Given the description of an element on the screen output the (x, y) to click on. 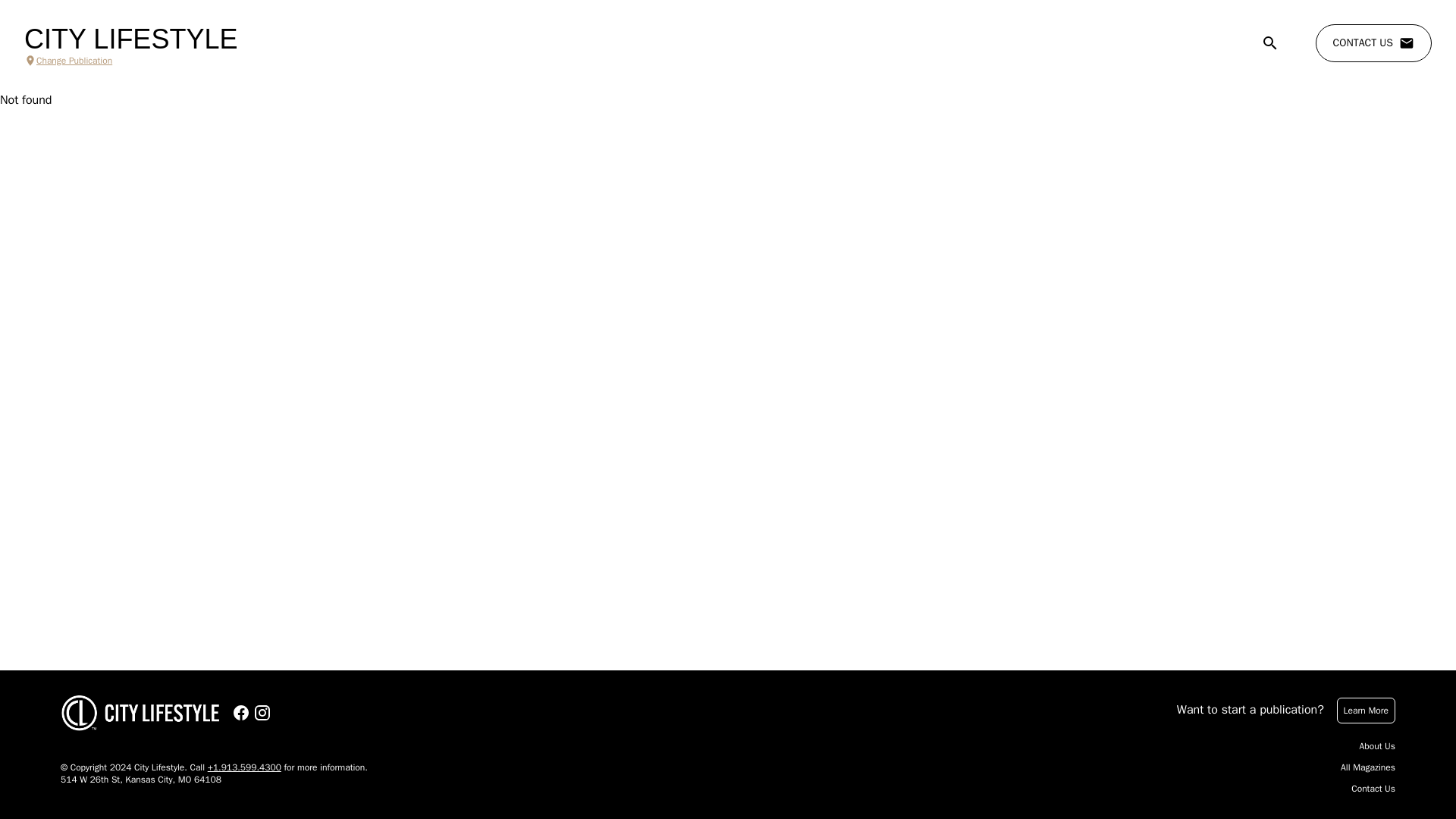
CONTACT US (1373, 43)
All Magazines (1367, 767)
Learn More (1365, 710)
CITY LIFESTYLE (130, 39)
Contact Us (1372, 788)
Change Publication (130, 60)
About Us (1376, 746)
